Given the description of an element on the screen output the (x, y) to click on. 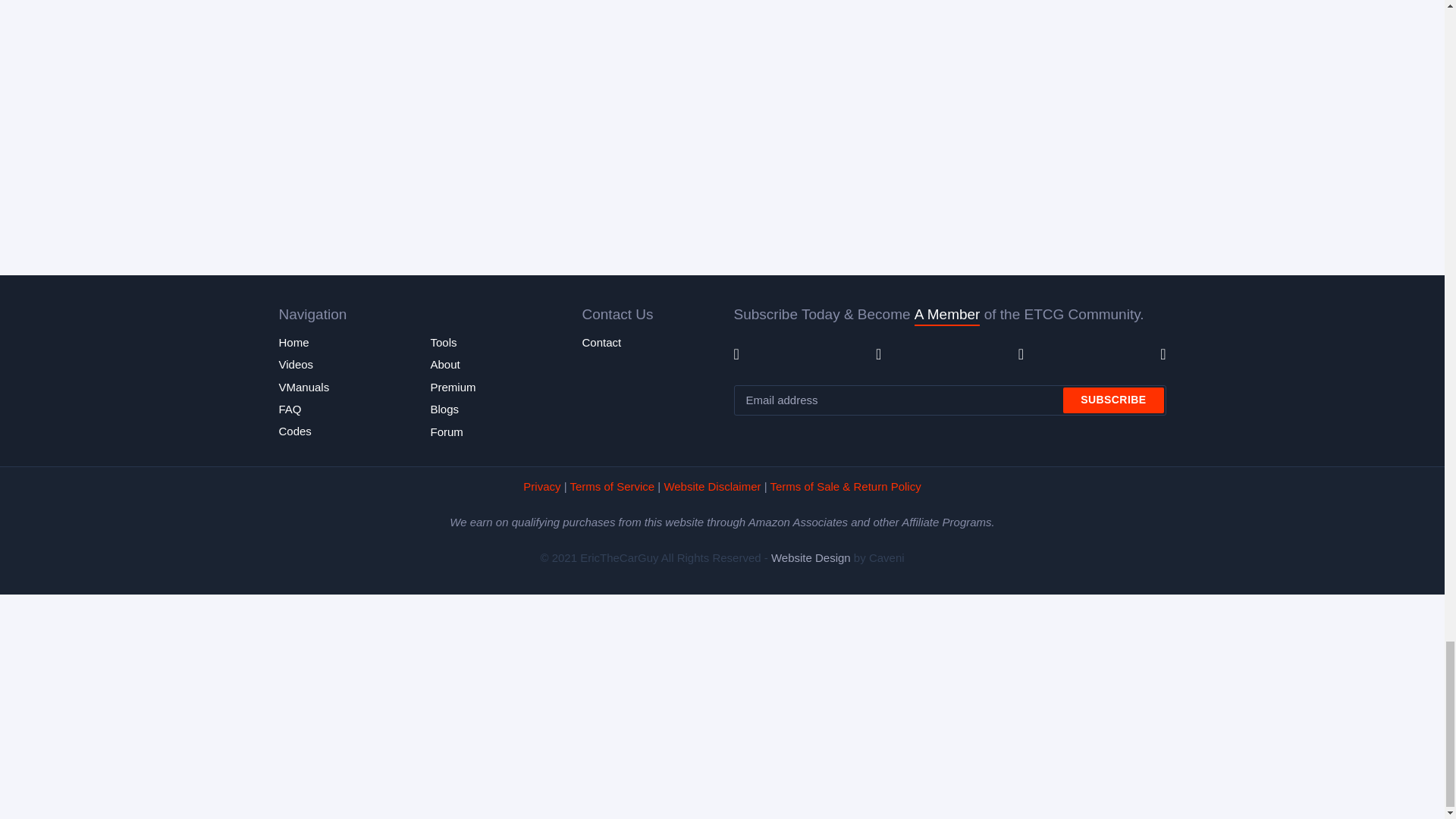
Subscribe (1112, 400)
